Given the description of an element on the screen output the (x, y) to click on. 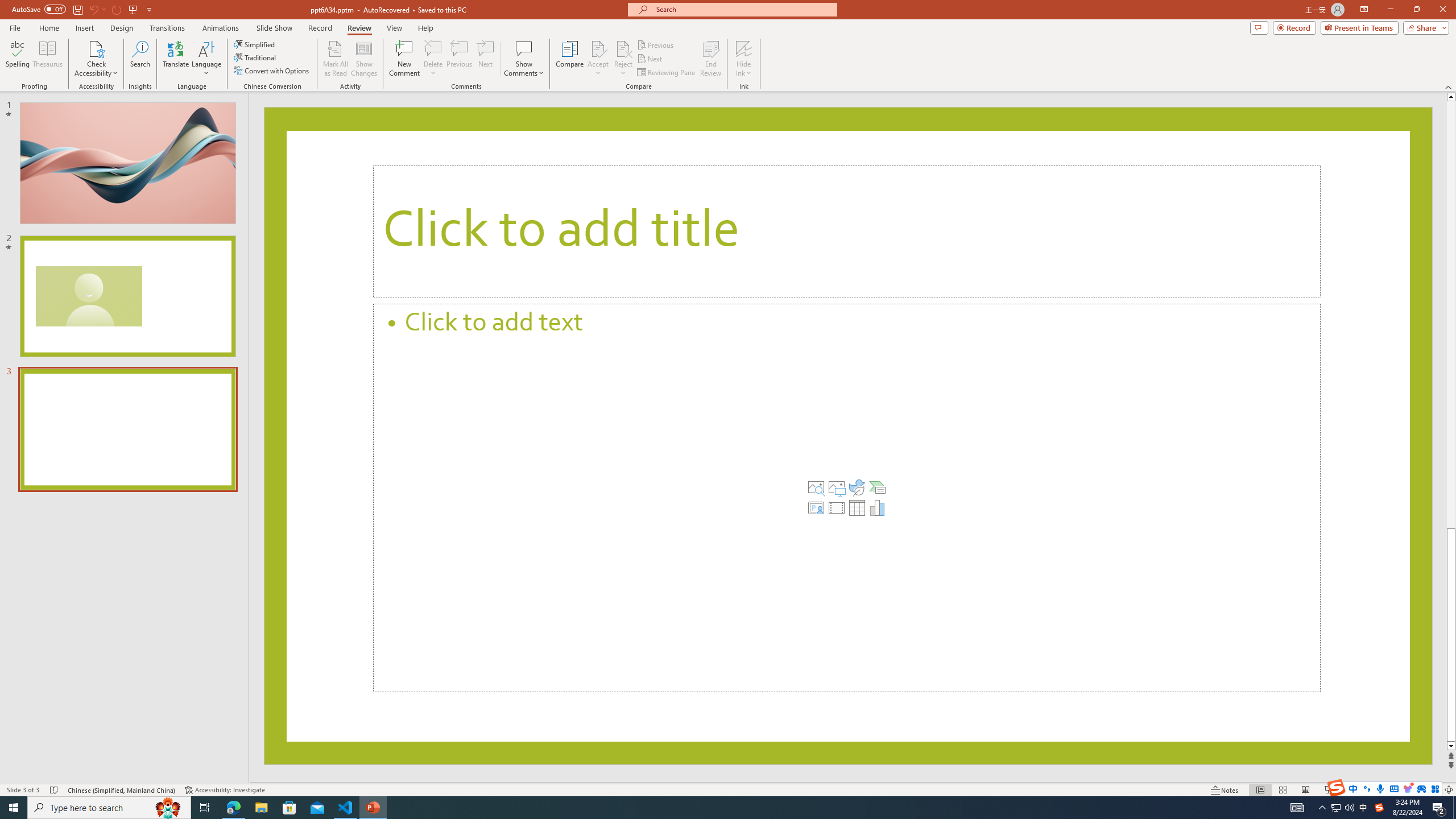
Language (206, 58)
Next (649, 58)
Thesaurus... (47, 58)
Traditional (255, 56)
Compare (569, 58)
End Review (710, 58)
Delete (432, 48)
Delete (432, 58)
